Given the description of an element on the screen output the (x, y) to click on. 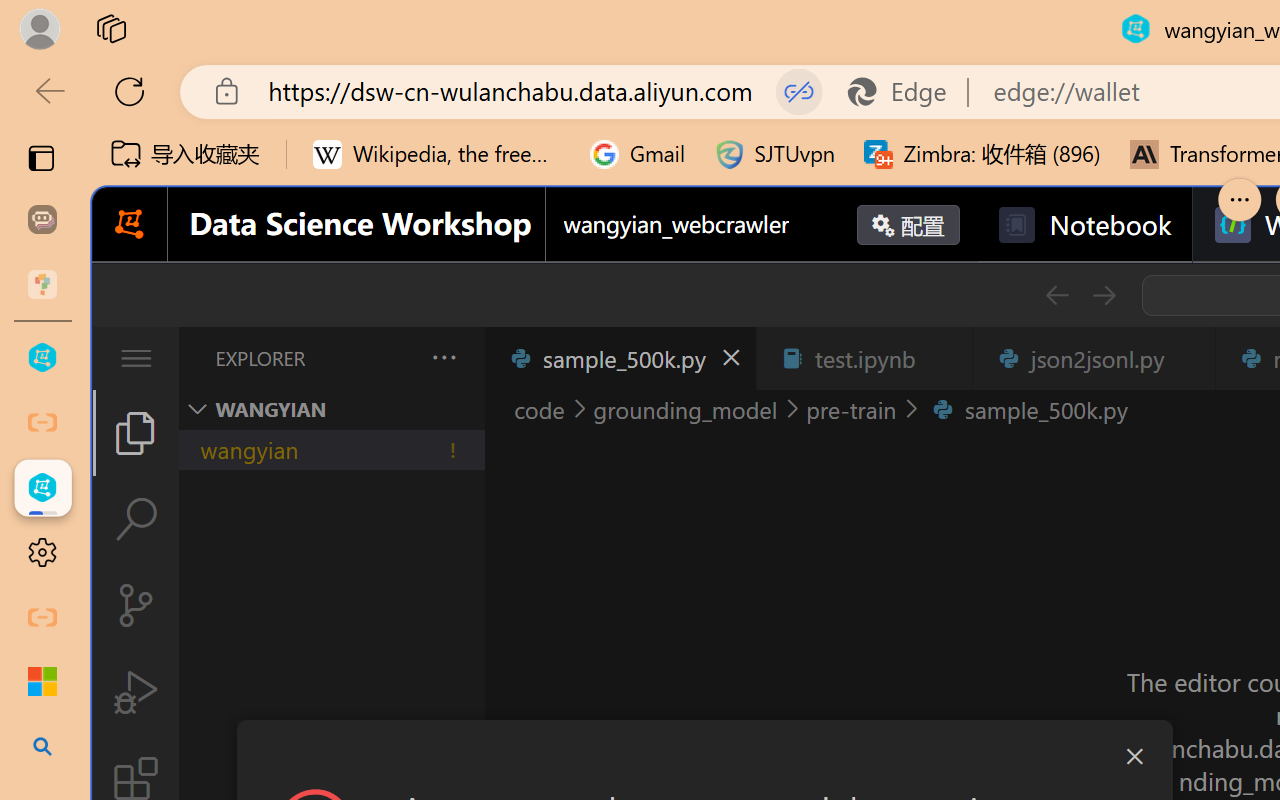
Go Forward (Alt+RightArrow) (1102, 295)
Views and More Actions... (442, 357)
Go Back (Alt+LeftArrow) (1055, 295)
wangyian_webcrawler - DSW (42, 487)
Source Control (Ctrl+Shift+G) (135, 604)
Gmail (637, 154)
